Given the description of an element on the screen output the (x, y) to click on. 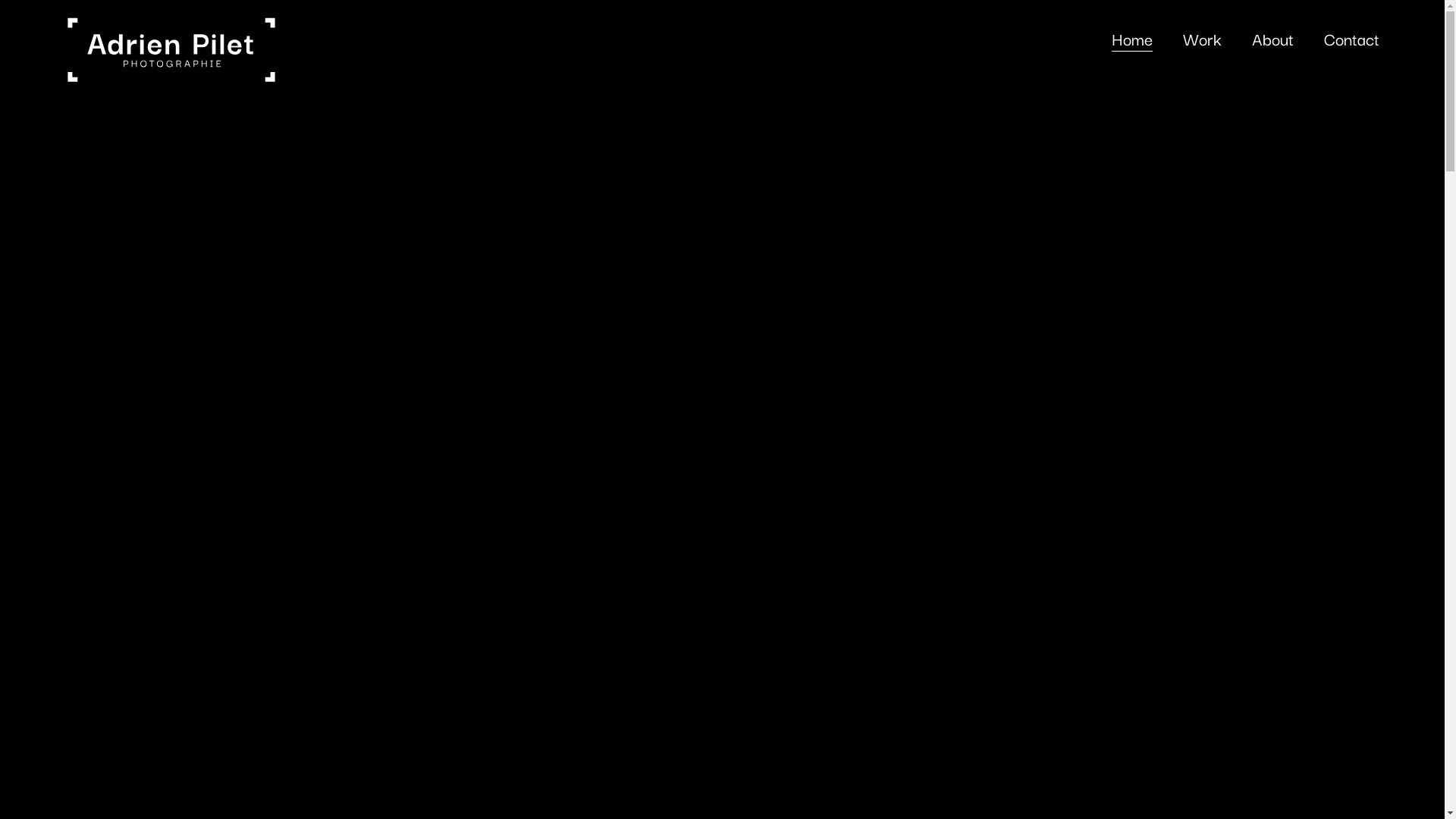
About Element type: text (1272, 37)
Work Element type: text (1202, 37)
Home Element type: text (1131, 38)
Contact Element type: text (1351, 37)
